Given the description of an element on the screen output the (x, y) to click on. 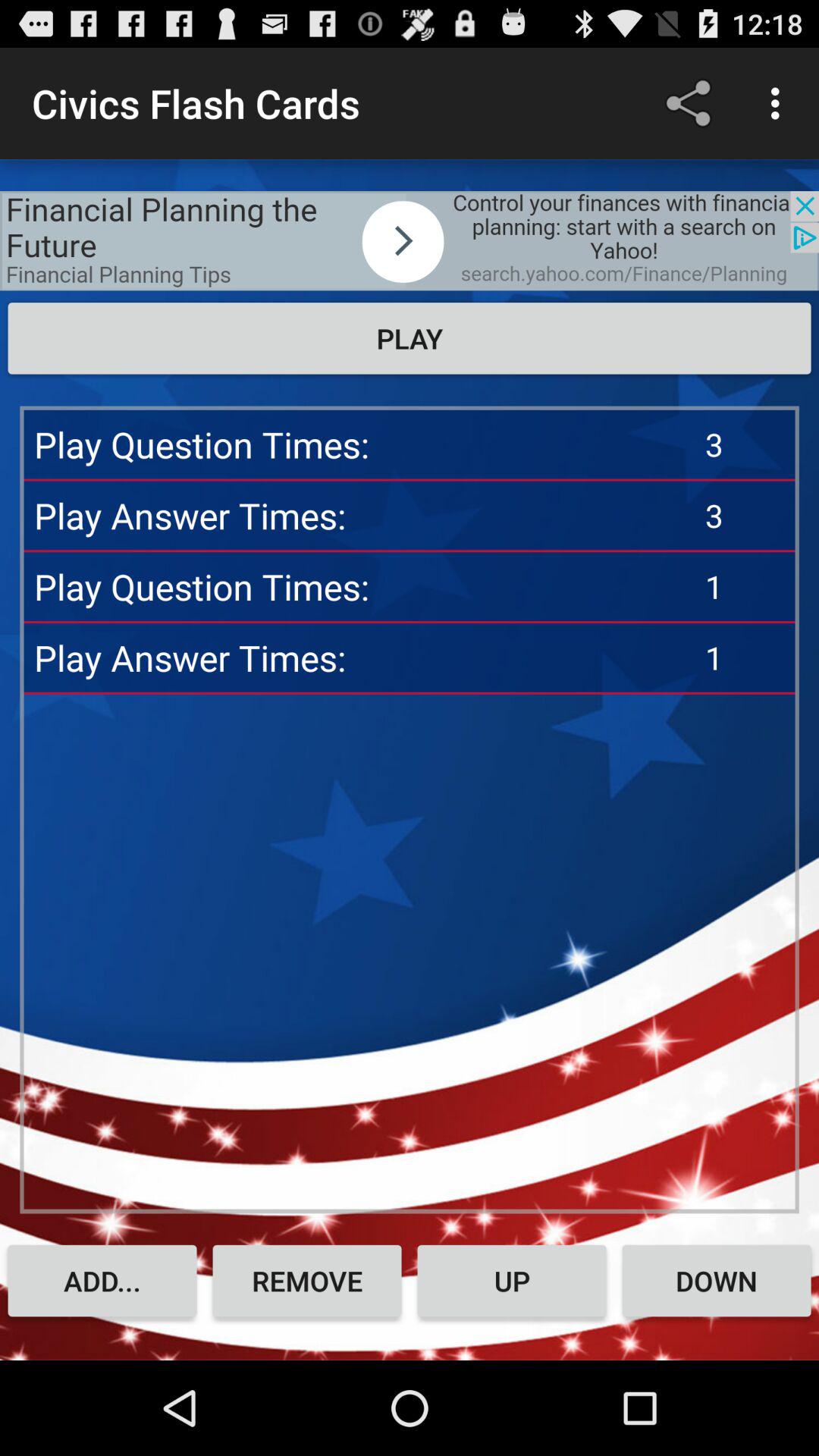
connect to advertisement (409, 240)
